Given the description of an element on the screen output the (x, y) to click on. 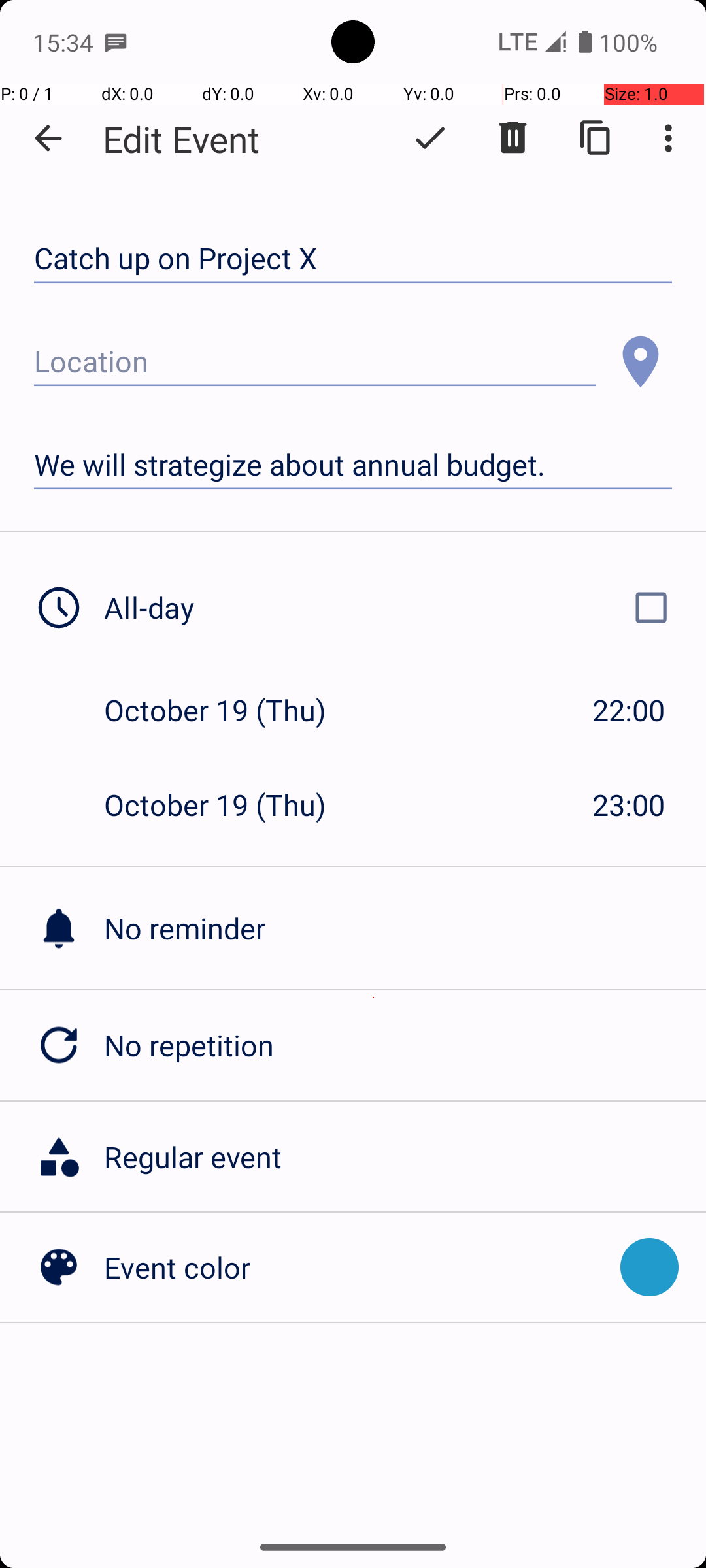
We will strategize about annual budget. Element type: android.widget.EditText (352, 465)
October 19 (Thu) Element type: android.widget.TextView (228, 709)
22:00 Element type: android.widget.TextView (628, 709)
23:00 Element type: android.widget.TextView (628, 804)
